Given the description of an element on the screen output the (x, y) to click on. 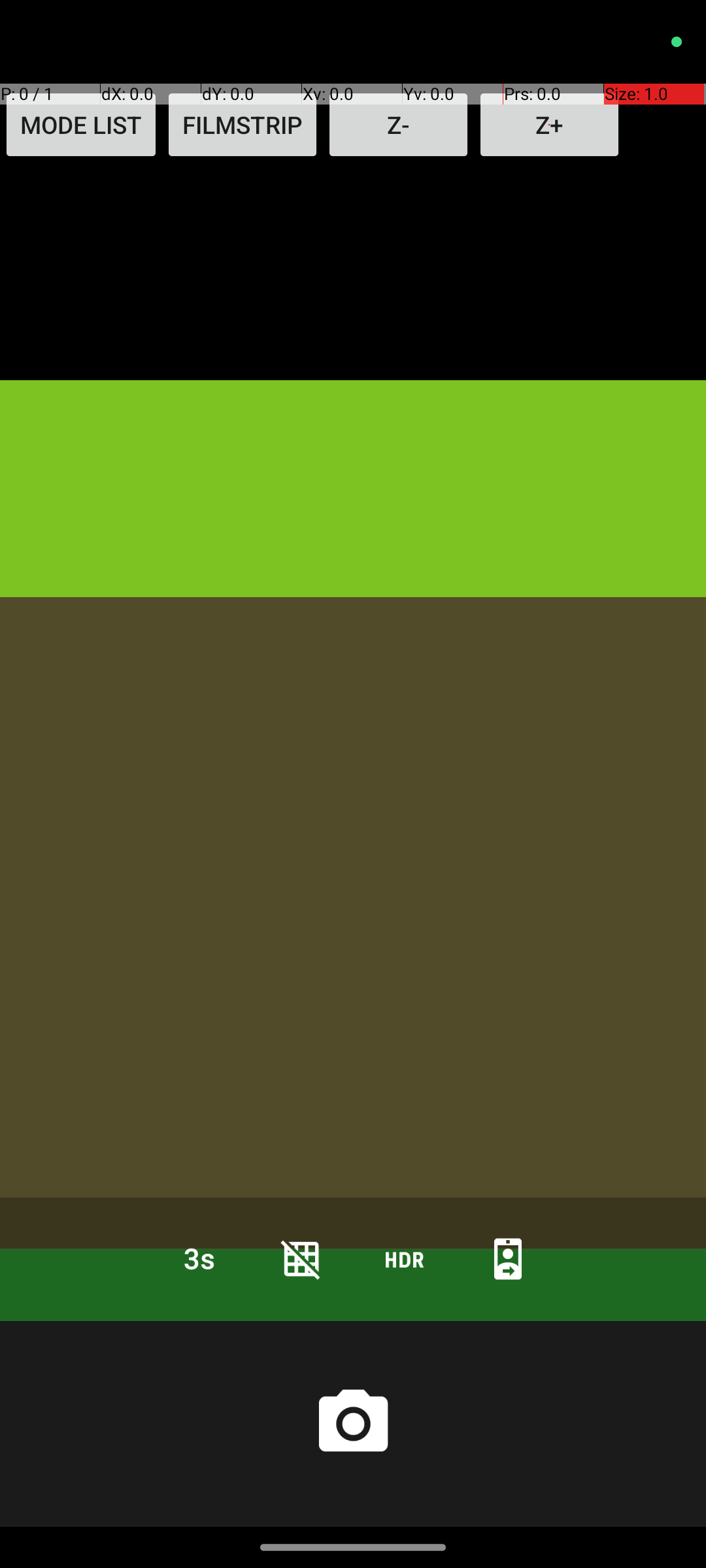
HDR on Element type: android.widget.ImageButton (404, 1258)
